Given the description of an element on the screen output the (x, y) to click on. 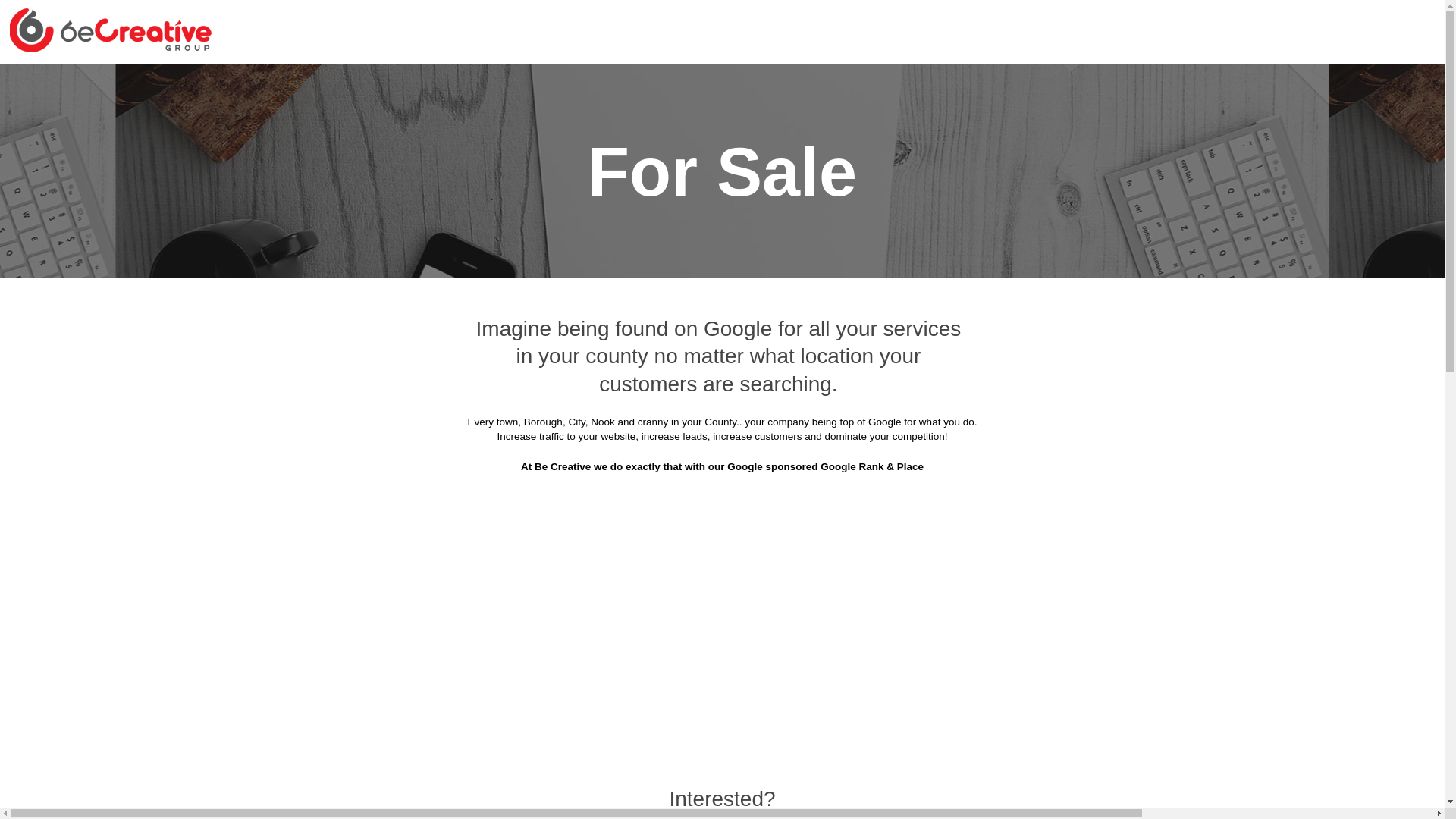
Aggregate Suppliers Bude Cornwall (1086, 158)
Aggregate Suppliers Brixham Devon (632, 158)
Aggregate Suppliers Dartmouth Devon (443, 271)
Aggregate Suppliers Callington Cornwall (834, 196)
Aggregate Suppliers Dawlish Devon (663, 271)
Aggregate Suppliers Devon (660, 83)
Aggregate Suppliers Cranbrook Devon (1078, 234)
Aggregate Suppliers Budleigh Salterton Devon (582, 196)
Aggregate Suppliers Camborne Cornwall (1072, 196)
Aggregate Suppliers Bovey Tracey Devon (1070, 121)
Aggregate Suppliers Helston Cornwall (850, 346)
Aggregate Suppliers Honiton Devon (405, 383)
Aggregate Suppliers Buckfastleigh Devon (860, 158)
Aggregate Suppliers Chudleigh Devon (622, 234)
Aggregate Suppliers Ilfracombe Devon (625, 383)
